Given the description of an element on the screen output the (x, y) to click on. 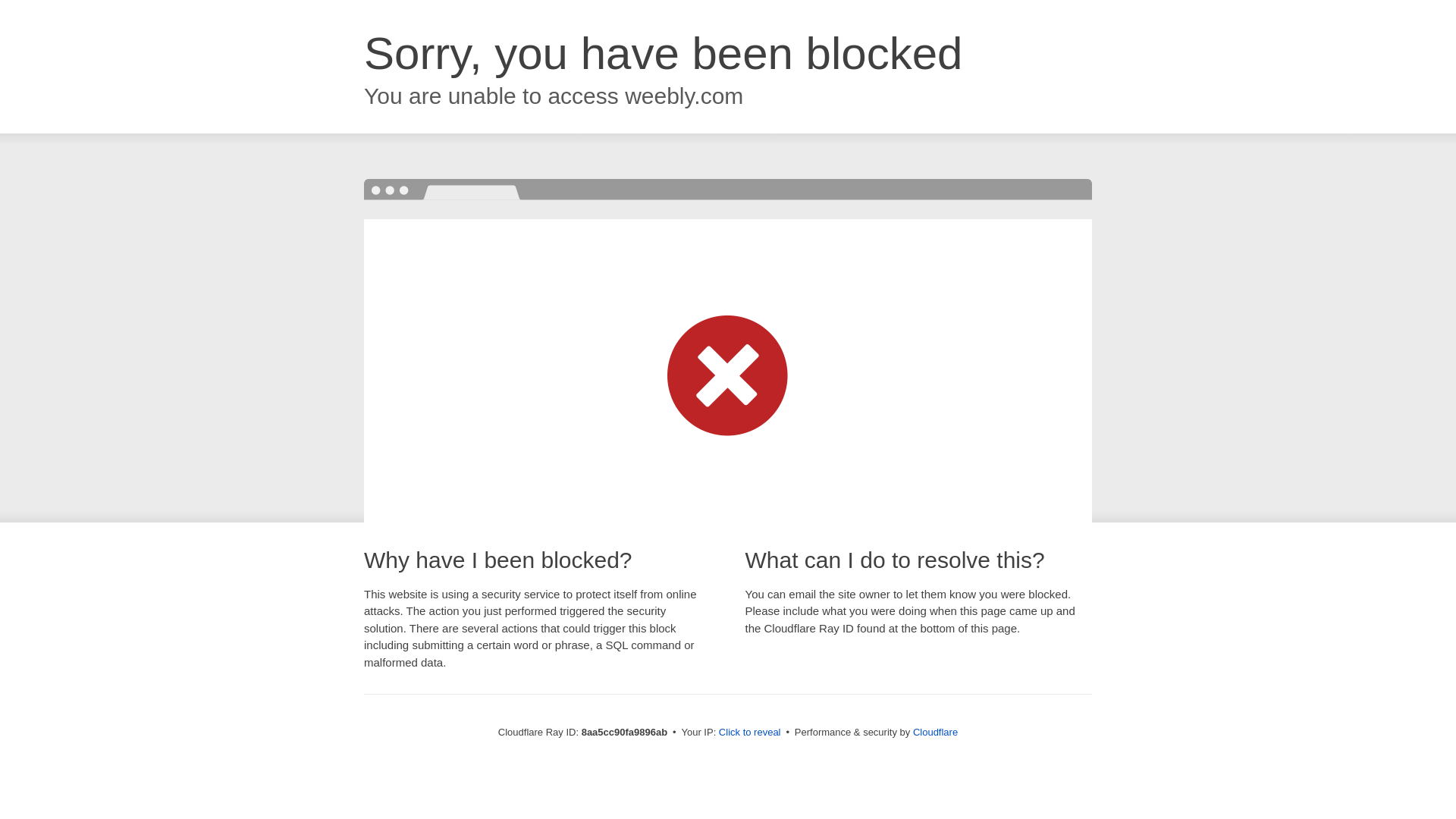
Cloudflare (935, 731)
Click to reveal (749, 732)
